Given the description of an element on the screen output the (x, y) to click on. 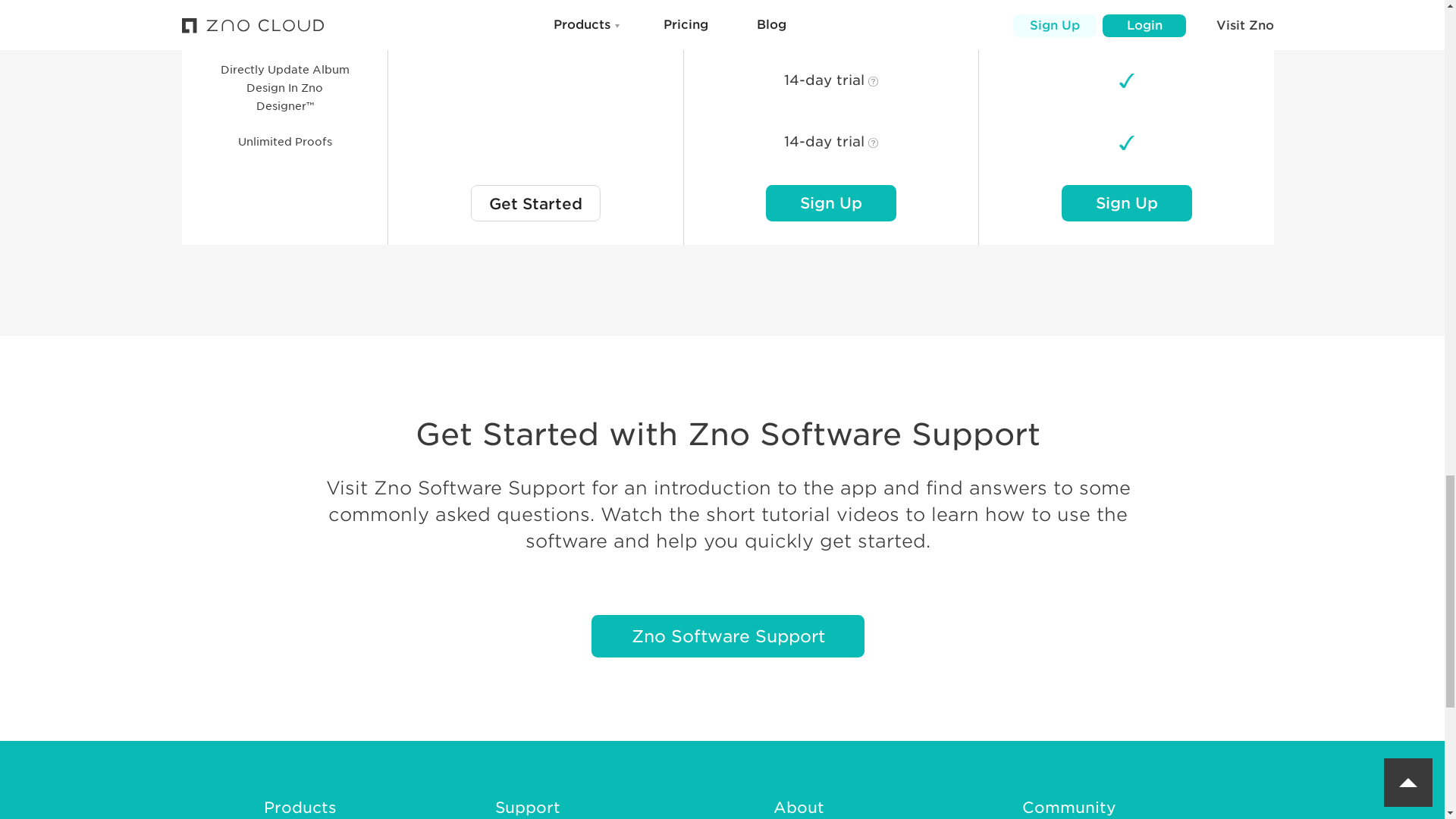
Sign Up (830, 203)
Sign Up (1126, 203)
Get Started (535, 203)
Zno Software Support (727, 636)
